Given the description of an element on the screen output the (x, y) to click on. 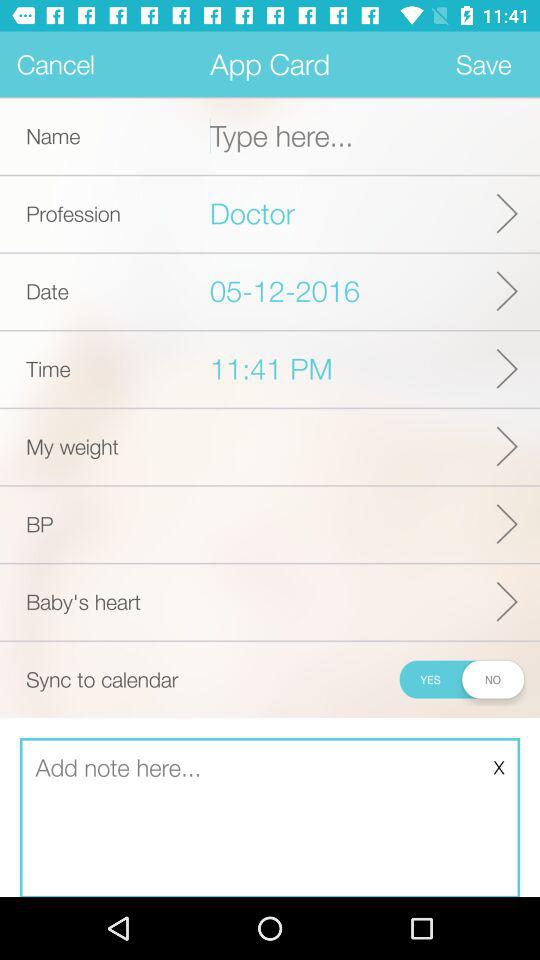
sync to calendar (460, 679)
